Given the description of an element on the screen output the (x, y) to click on. 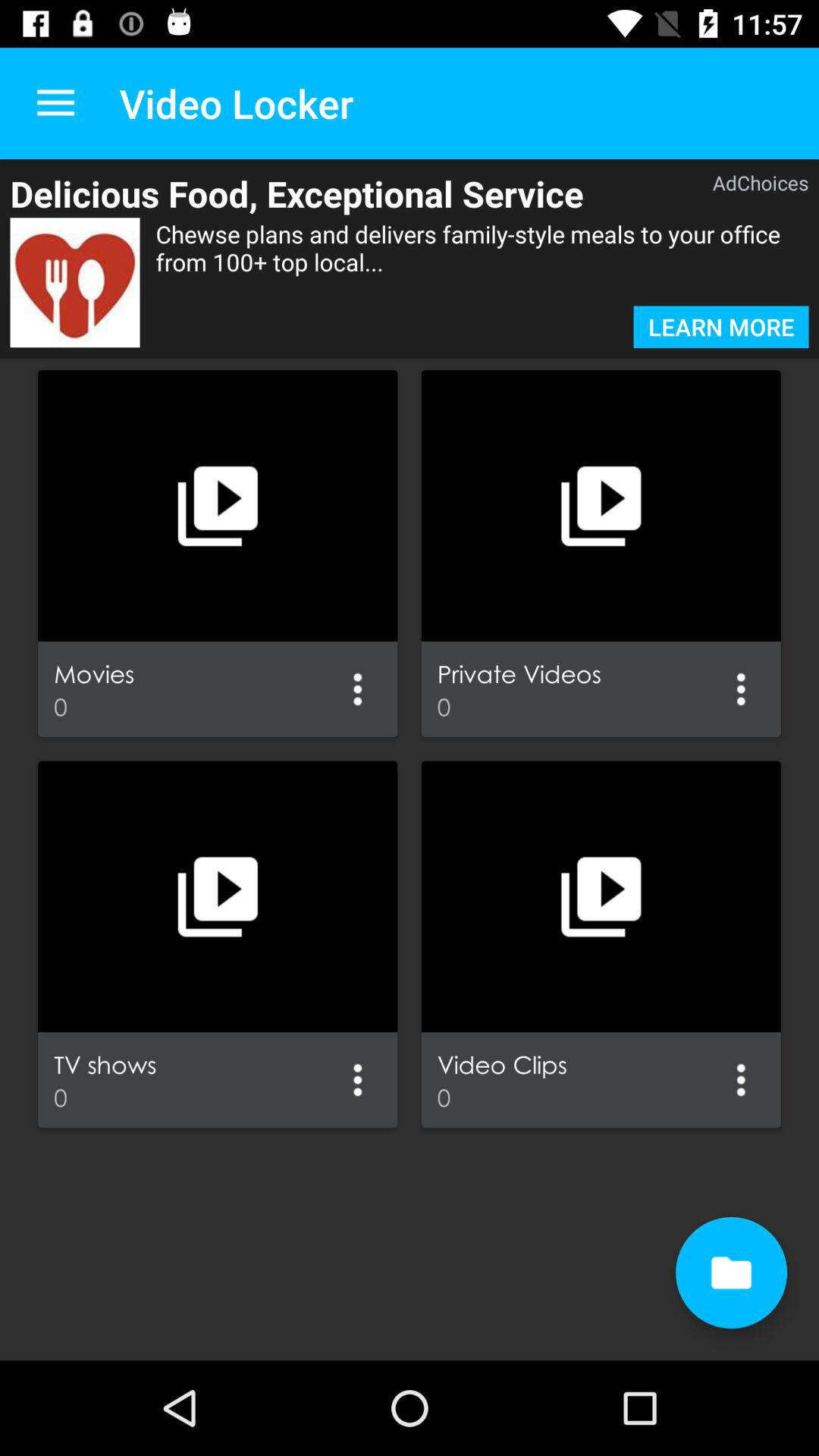
open item to the left of adchoices (337, 193)
